Given the description of an element on the screen output the (x, y) to click on. 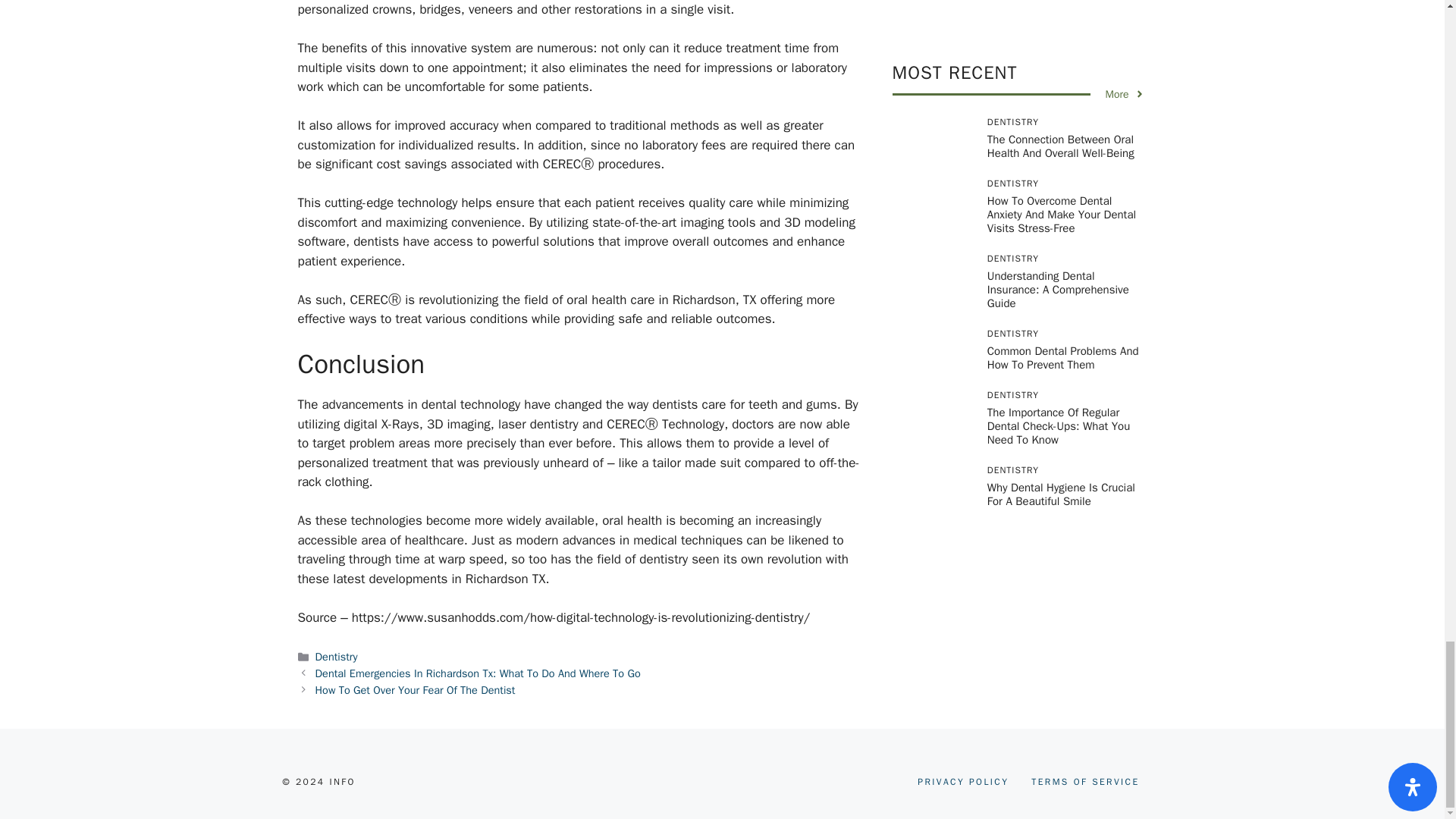
How To Get Over Your Fear Of The Dentist (415, 689)
PRIVACY POLICY (963, 781)
TERMS OF SERVICE (1084, 781)
Dentistry (336, 656)
